Given the description of an element on the screen output the (x, y) to click on. 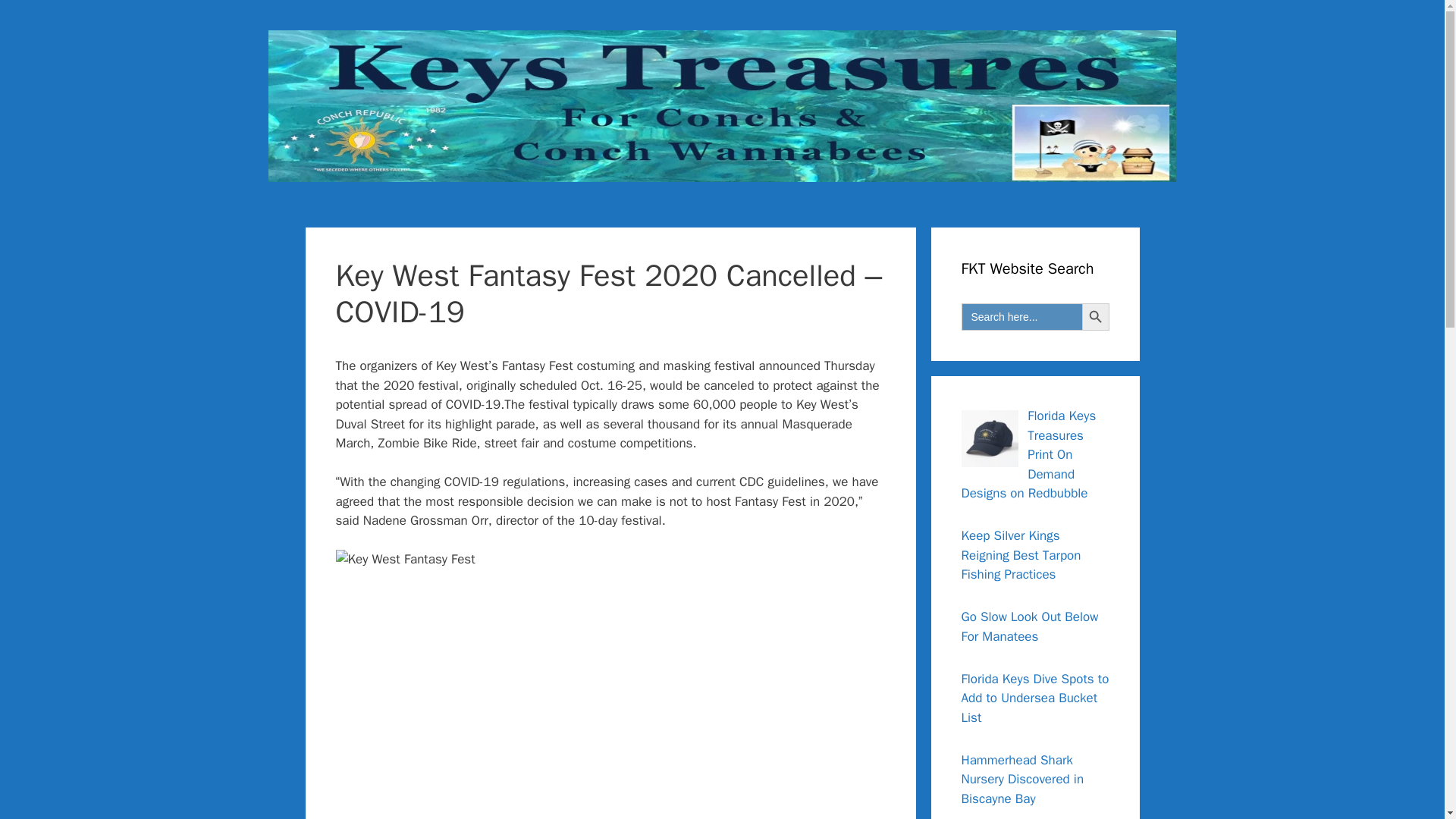
Hammerhead Shark Nursery Discovered in Biscayne Bay (1022, 779)
Go Slow Look Out Below For Manatees (1029, 626)
Florida Keys Dive Spots to Add to Undersea Bucket List (1034, 697)
Search Button (1094, 316)
Keep Silver Kings Reigning Best Tarpon Fishing Practices (1020, 554)
Florida Keys Treasures Print On Demand Designs on Redbubble (1028, 454)
